Given the description of an element on the screen output the (x, y) to click on. 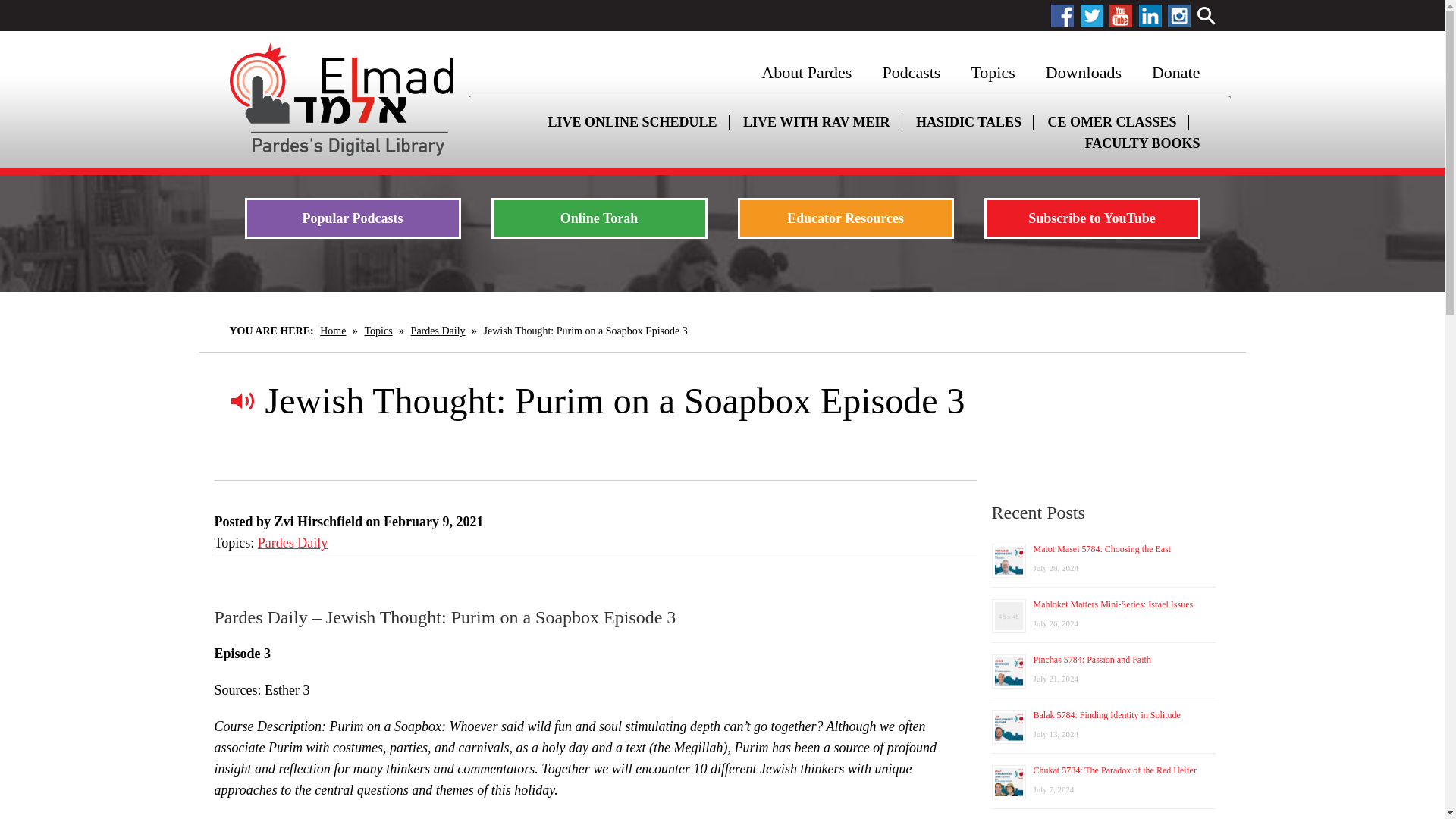
Podcasts (910, 72)
About Pardes (805, 72)
Return to the homepage (340, 99)
